Given the description of an element on the screen output the (x, y) to click on. 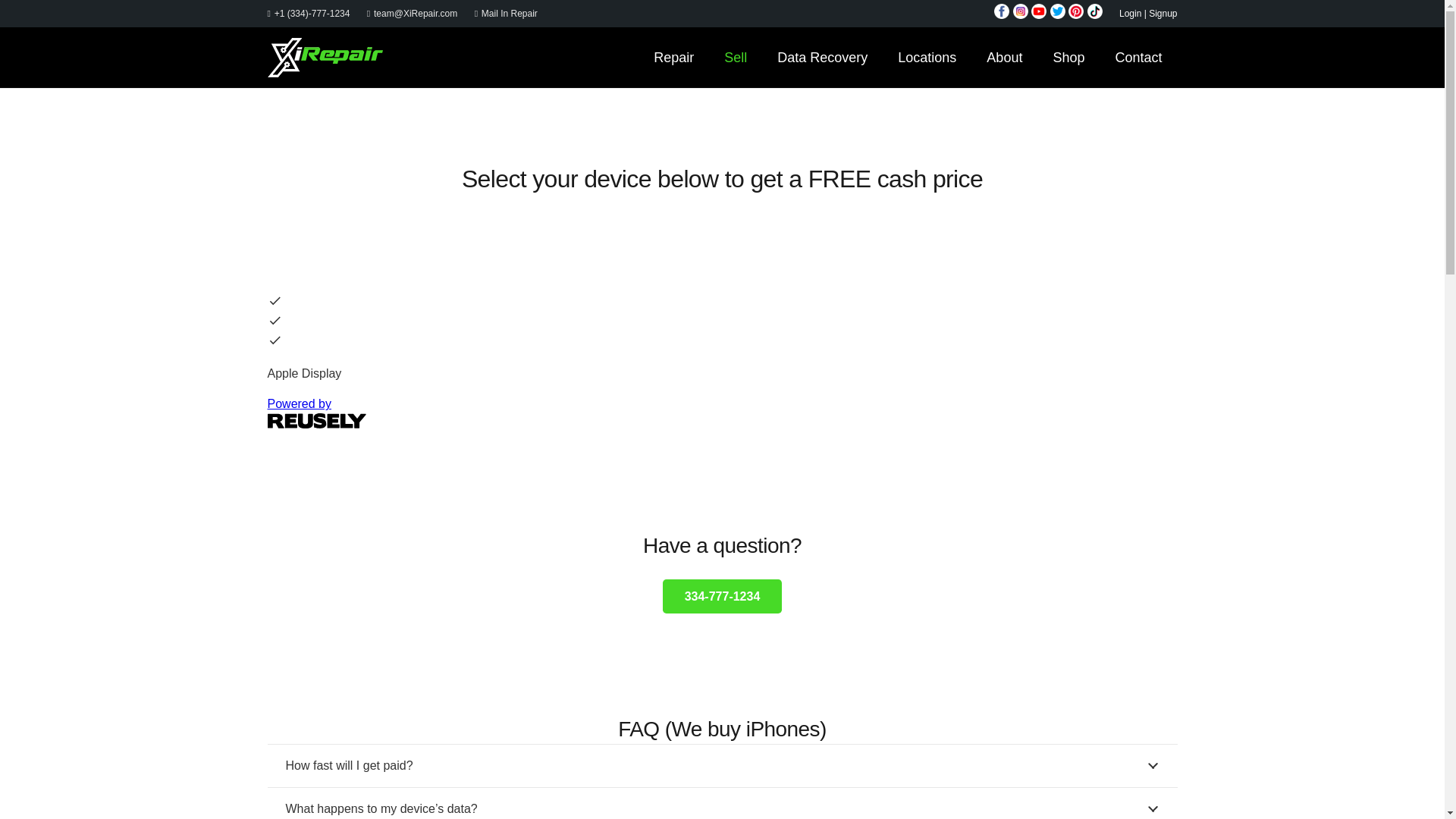
Signup (1162, 13)
Repair (674, 57)
Login (1130, 13)
Mail In Repair (505, 13)
